Given the description of an element on the screen output the (x, y) to click on. 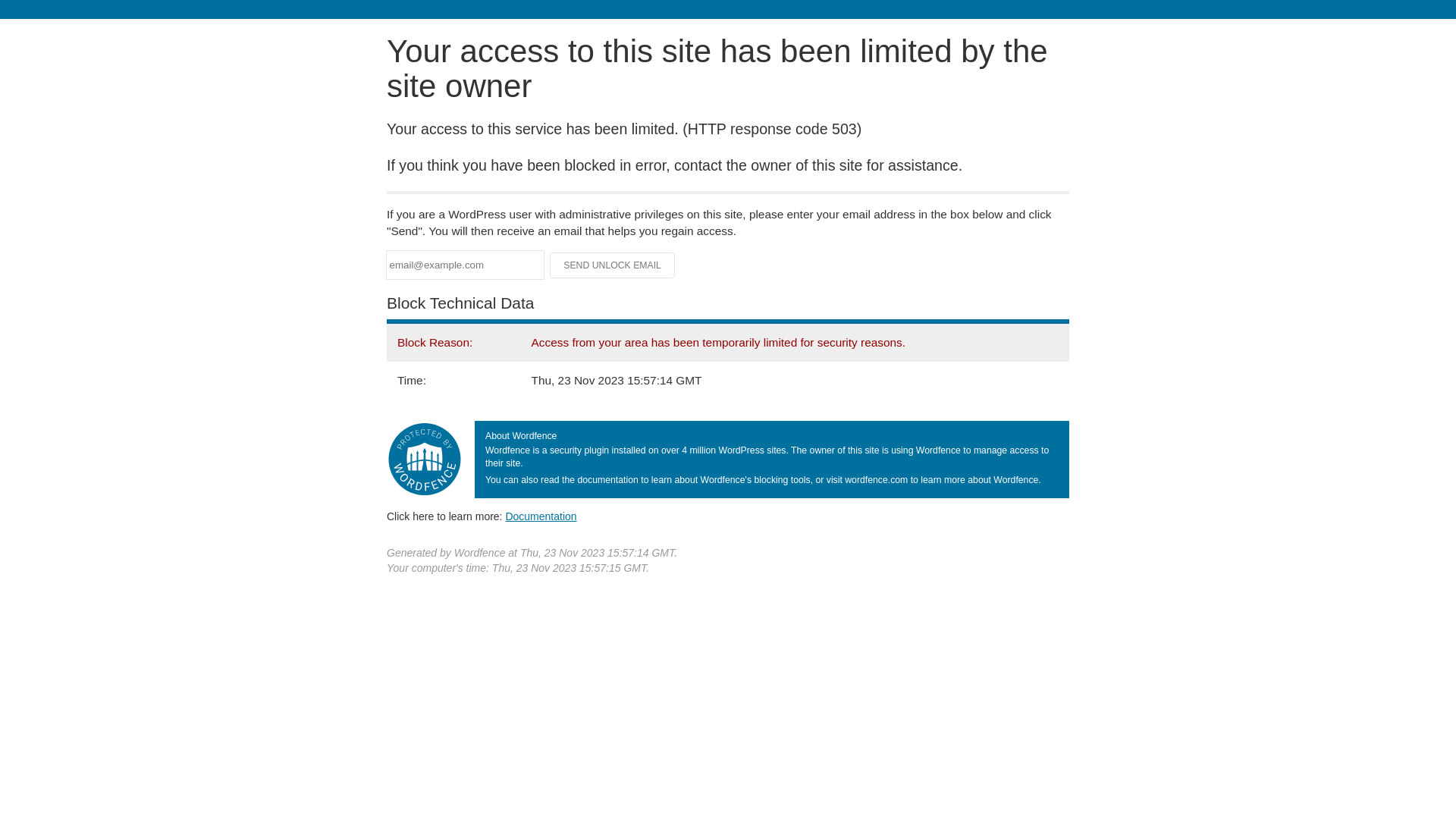
Documentation Element type: text (540, 516)
Send Unlock Email Element type: text (612, 265)
